Given the description of an element on the screen output the (x, y) to click on. 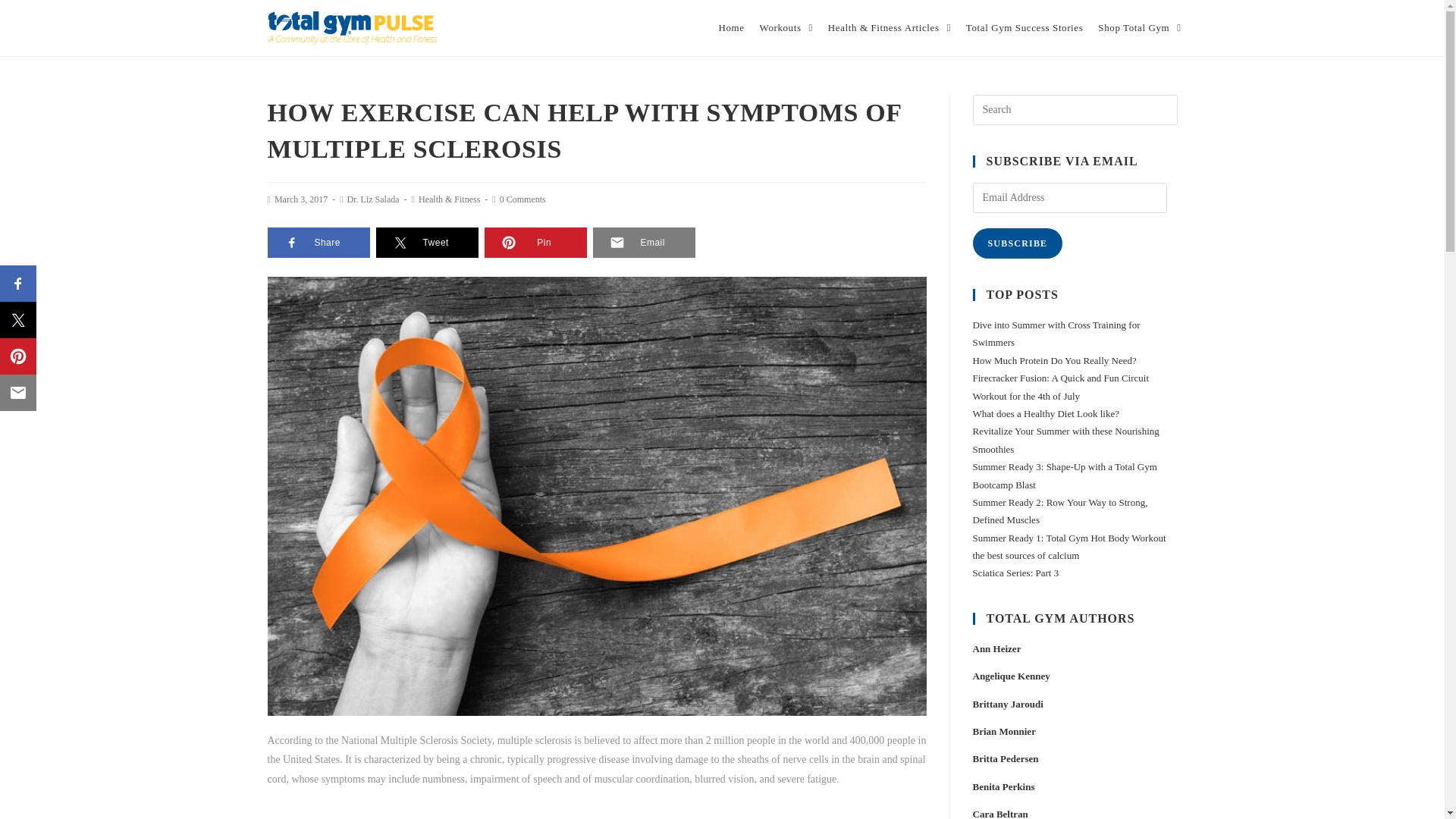
0 Comments (522, 199)
Dr. Liz Salada (372, 199)
Posts by Dr. Liz Salada (372, 199)
SUBSCRIBE (1017, 243)
Revitalize Your Summer with these Nourishing Smoothies (1065, 439)
Total Gym Success Stories (1024, 28)
What does a Healthy Diet Look like? (1045, 413)
Dive into Summer with Cross Training for Swimmers (1056, 333)
How Much Protein Do You Really Need? (1053, 360)
Shop Total Gym (1139, 28)
Summer Ready 3: Shape-Up with a Total Gym Bootcamp Blast (1064, 475)
Workouts (786, 28)
